Given the description of an element on the screen output the (x, y) to click on. 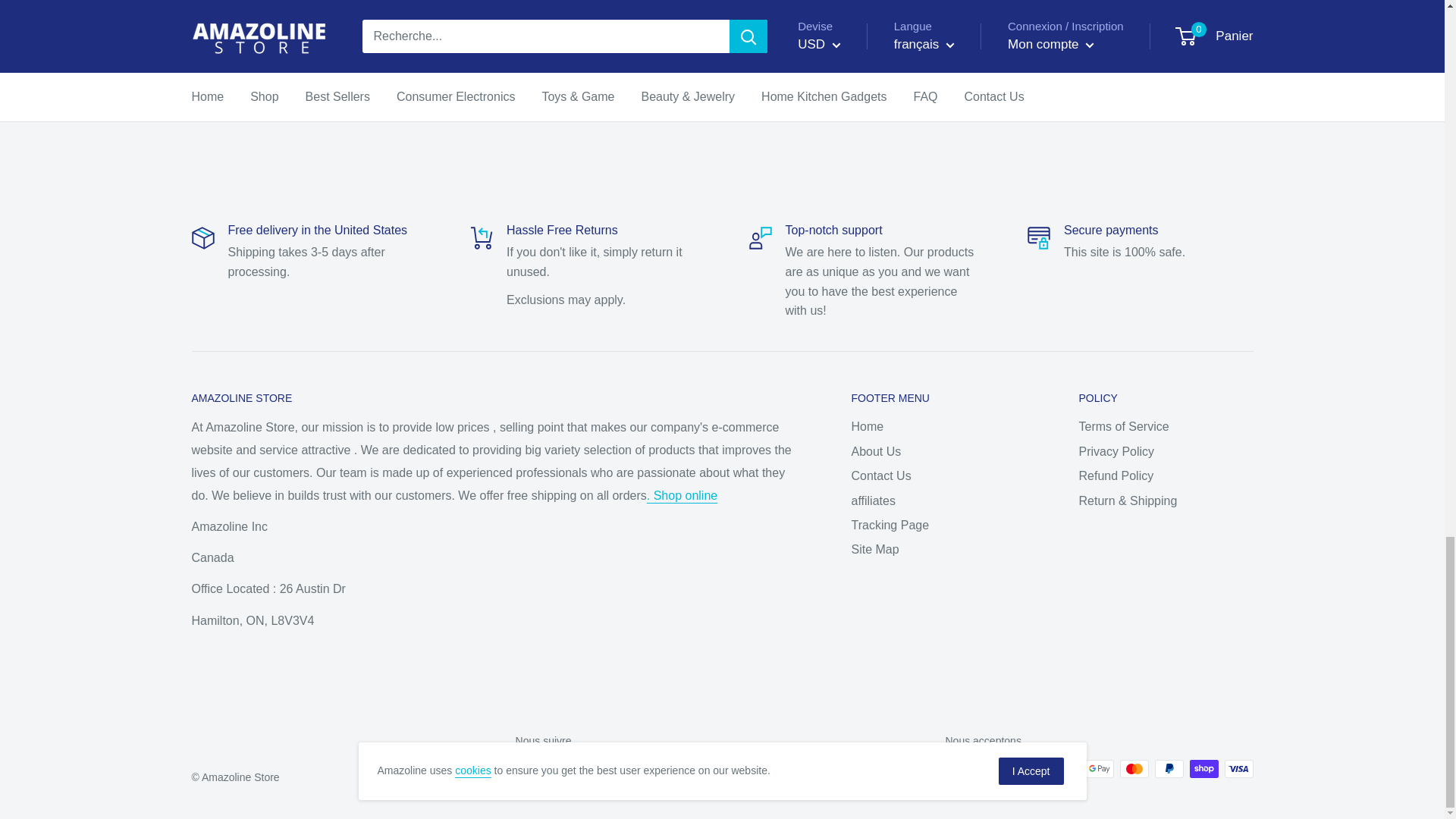
All collections (681, 495)
